Given the description of an element on the screen output the (x, y) to click on. 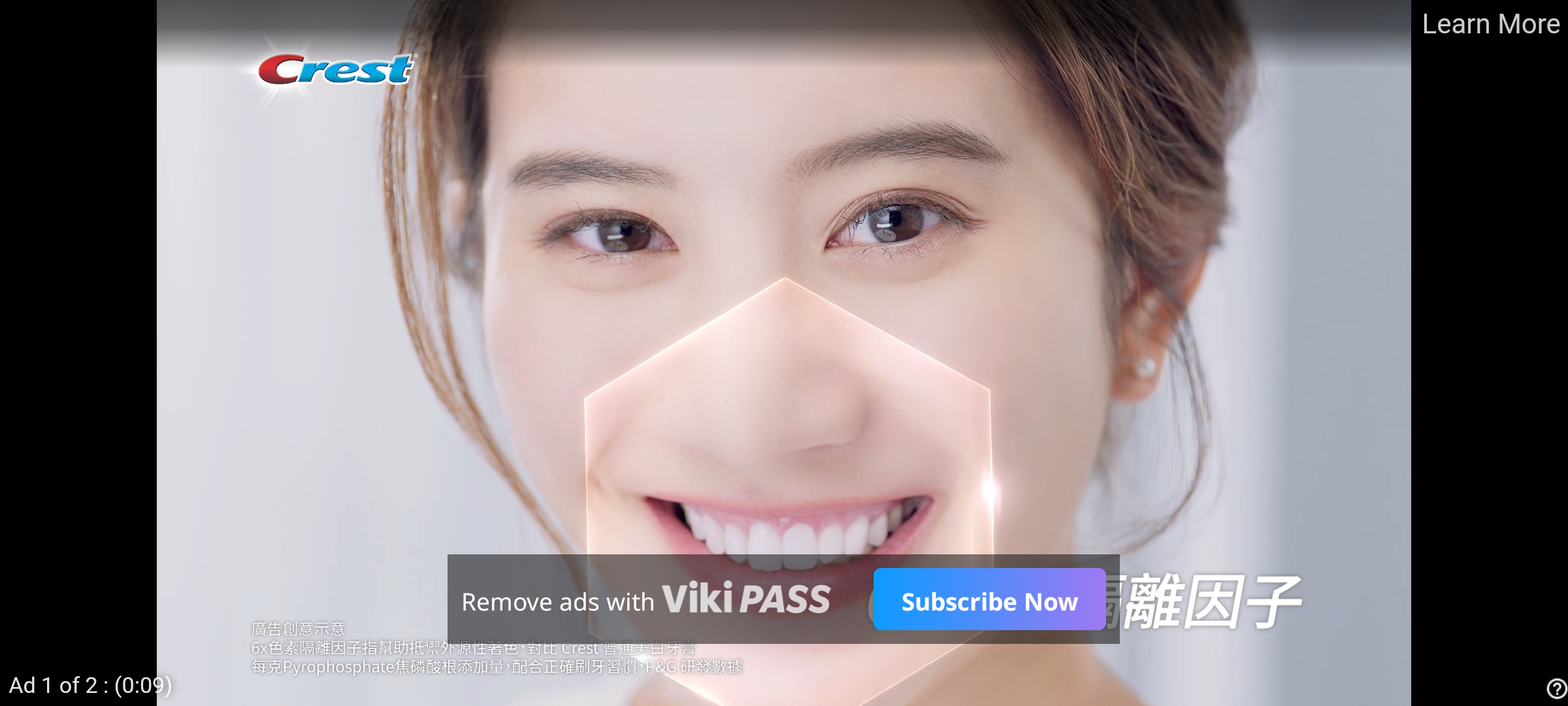
Learn More (1490, 24)
Subscribe Now (989, 599)
Ad 1 of 2 : (0:09) (90, 684)
help_outline_white_24dp_with_3px_trbl_padding (1553, 688)
